Given the description of an element on the screen output the (x, y) to click on. 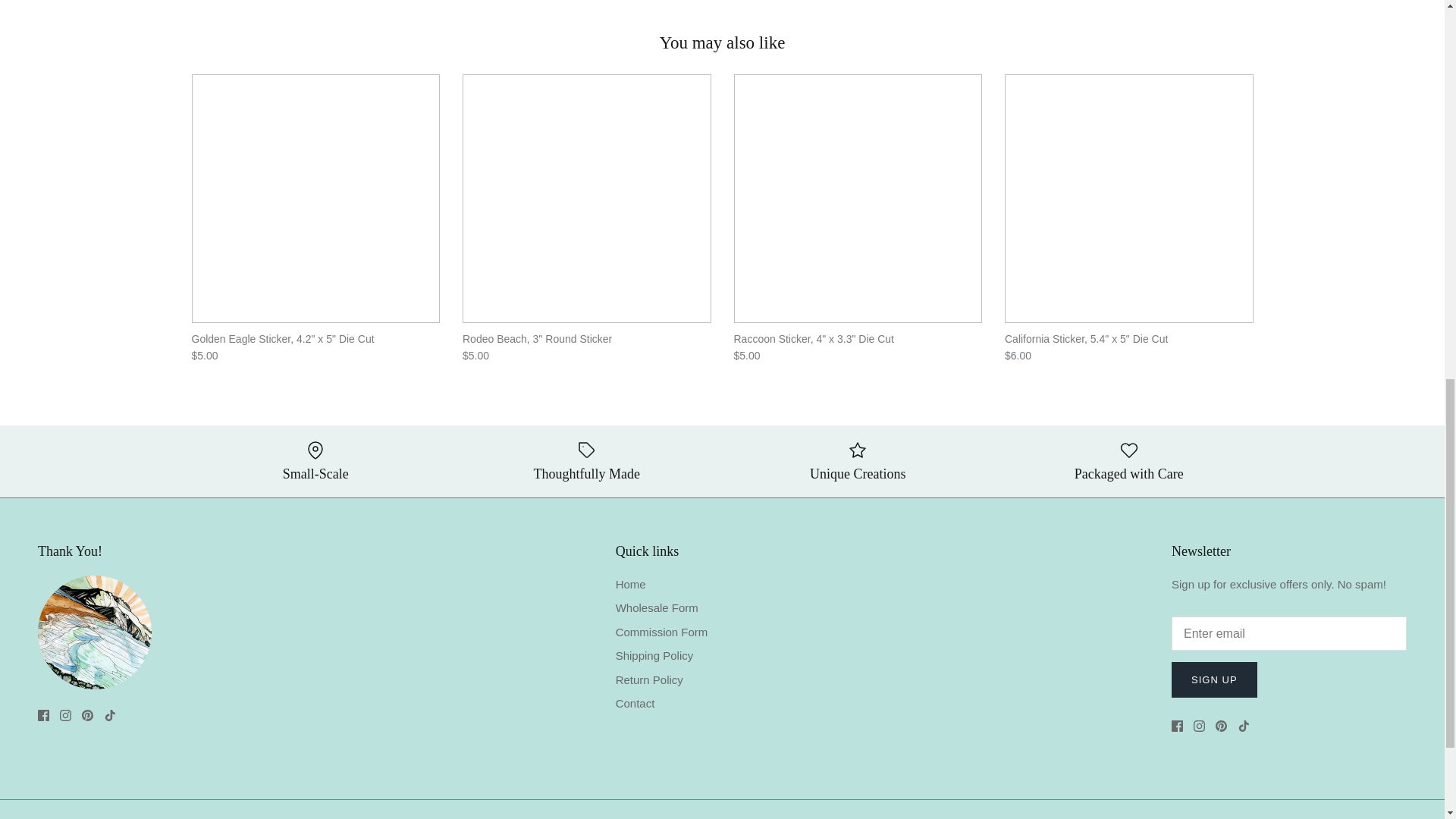
Instagram (65, 715)
Label (586, 450)
Facebook (43, 715)
Pinterest (87, 715)
